Given the description of an element on the screen output the (x, y) to click on. 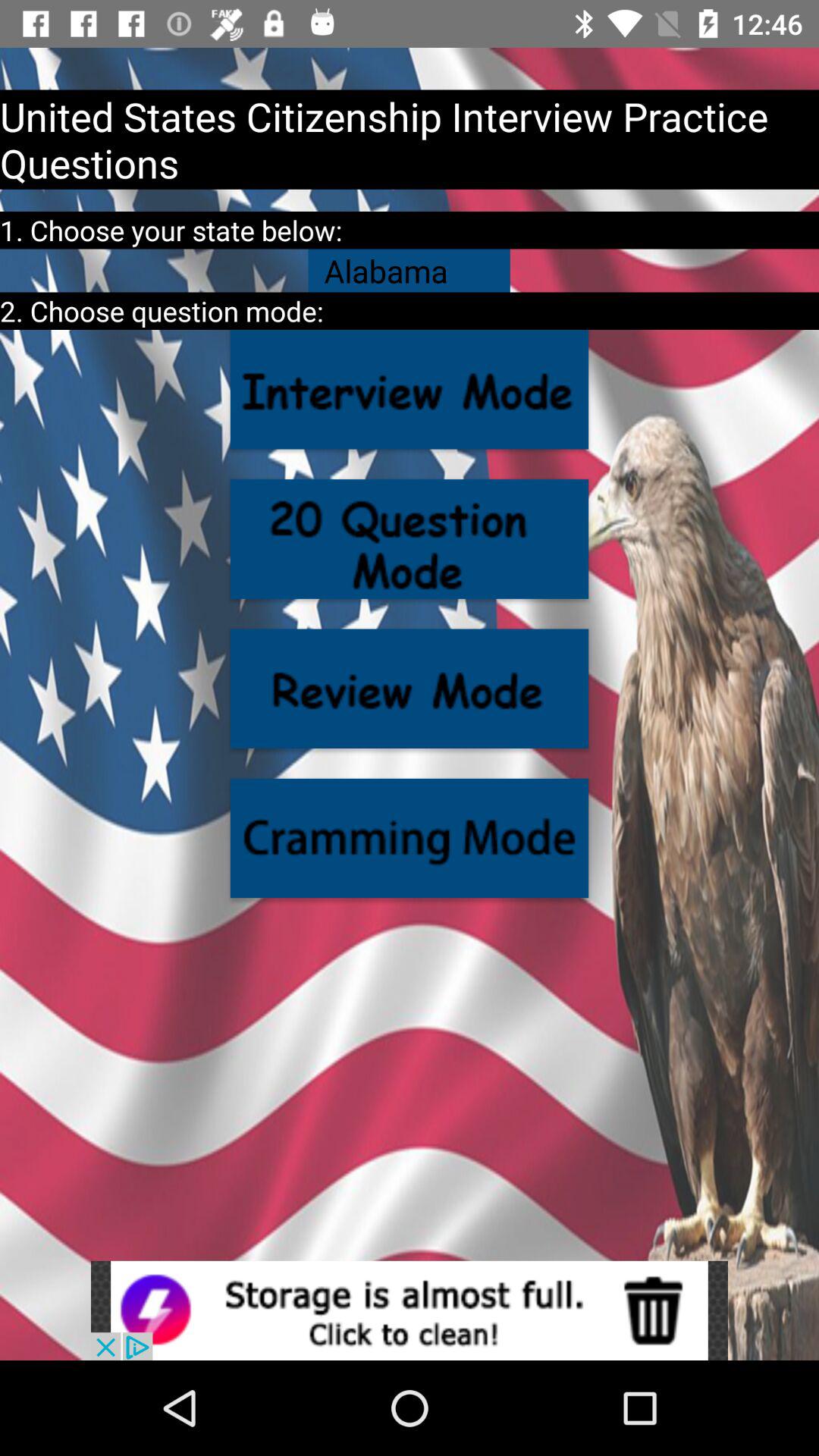
click the question option (409, 389)
